Given the description of an element on the screen output the (x, y) to click on. 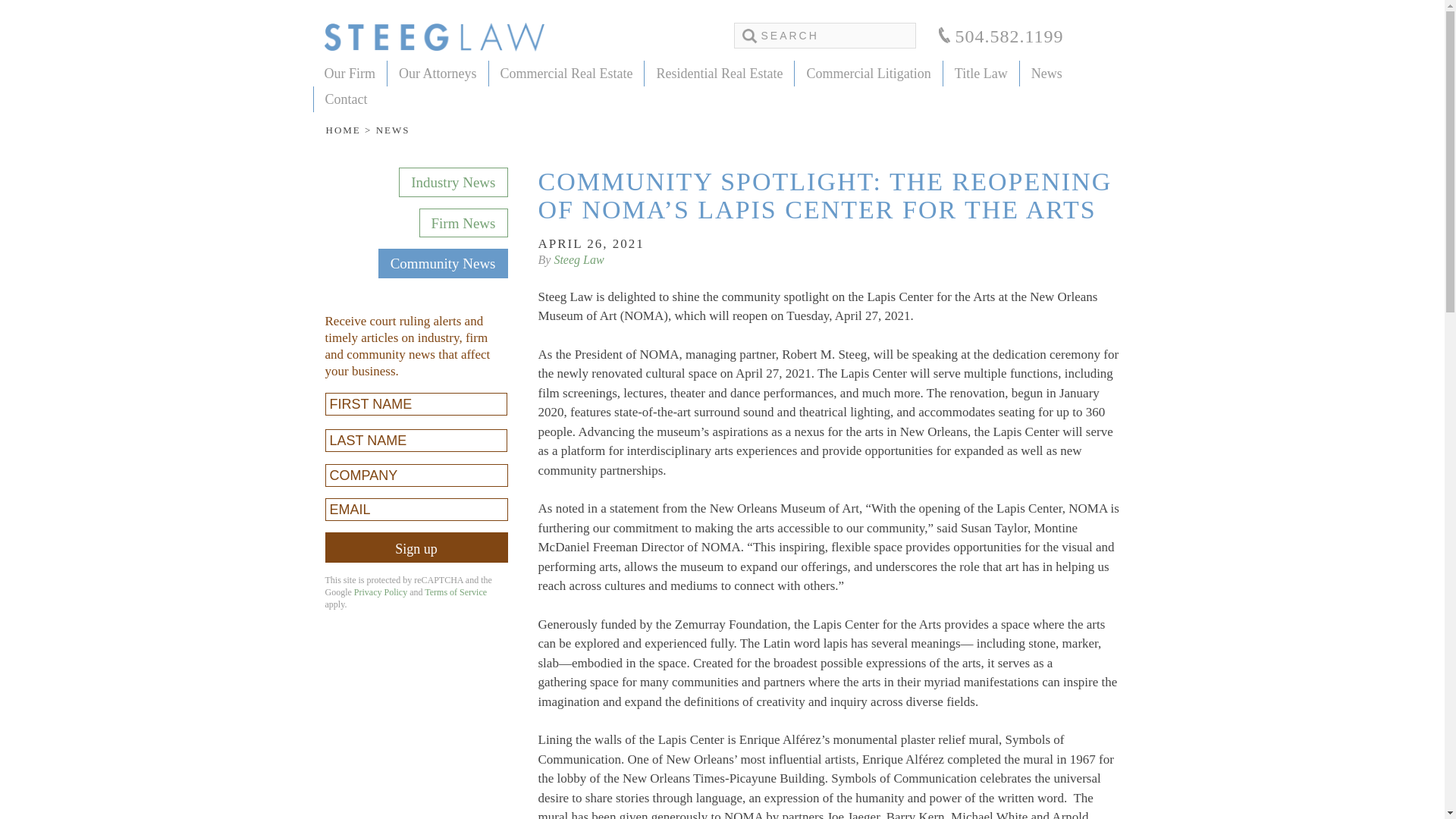
Residential Real Estate (718, 73)
Search (23, 10)
504.582.1199 (1001, 37)
Sign up (415, 547)
News (1046, 73)
Our Attorneys (437, 73)
Our Firm (350, 73)
Our Firm (350, 73)
Commercial Litigation (867, 73)
Title Law (980, 73)
Commercial Real Estate (566, 73)
Our Attorneys (437, 73)
Commercial Real Estate (566, 73)
Steeg Law (434, 36)
